Given the description of an element on the screen output the (x, y) to click on. 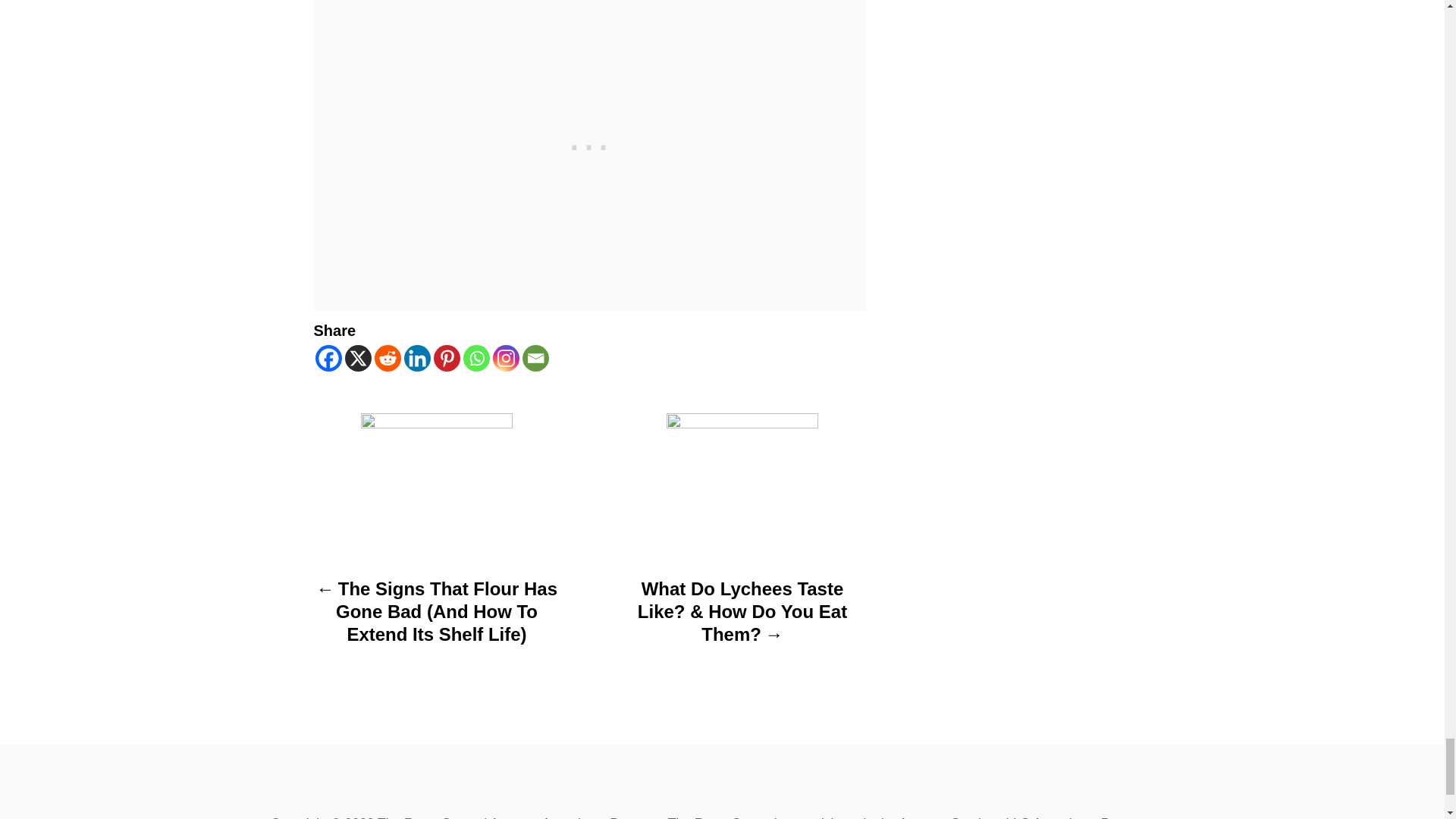
Email (534, 357)
Whatsapp (476, 357)
Reddit (387, 357)
X (357, 357)
Pinterest (446, 357)
Instagram (506, 357)
Facebook (328, 357)
Linkedin (416, 357)
